Given the description of an element on the screen output the (x, y) to click on. 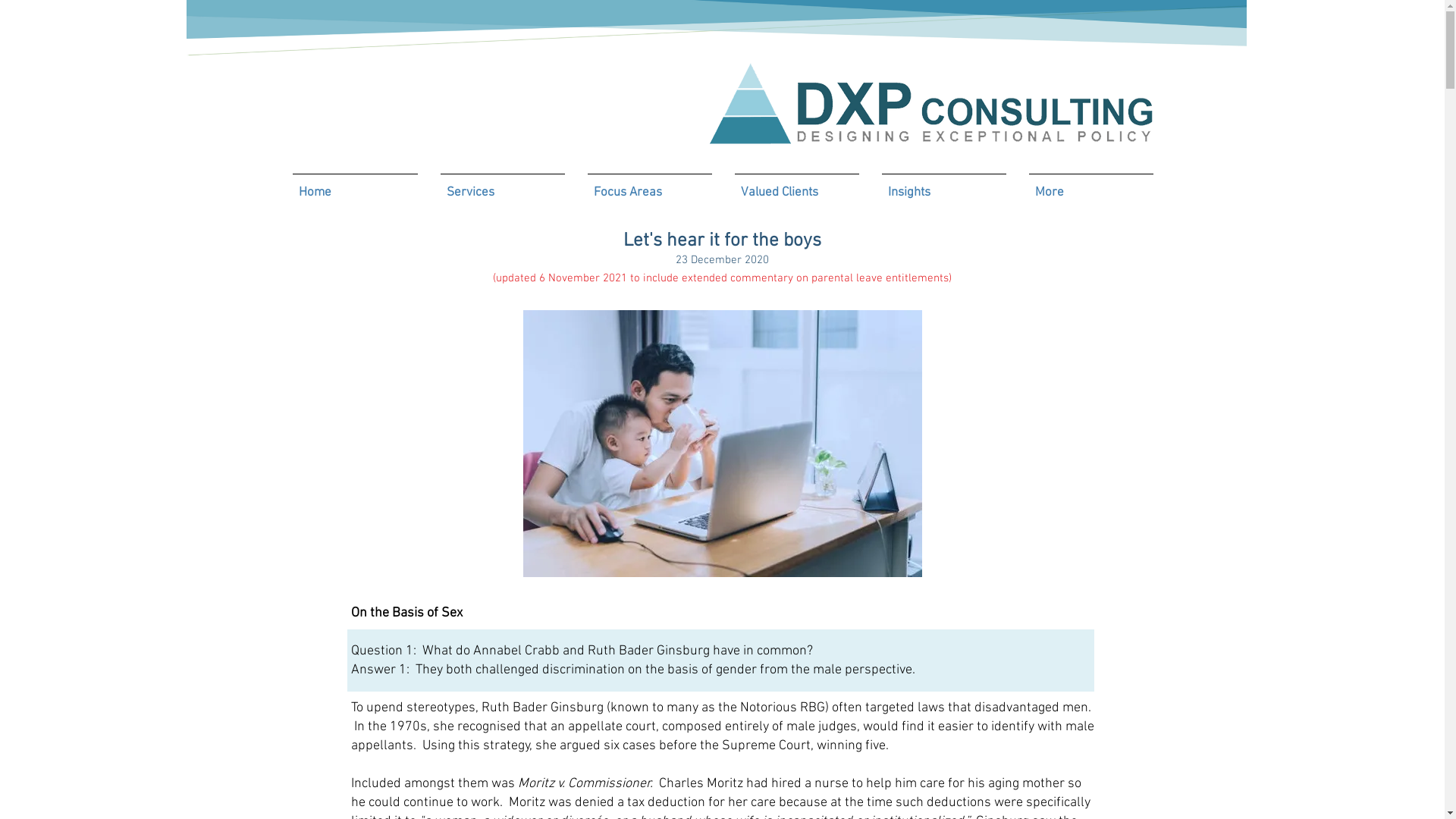
Home Element type: text (354, 185)
Focus Areas Element type: text (649, 185)
Valued Clients Element type: text (796, 185)
Services Element type: text (502, 185)
Insights Element type: text (943, 185)
